Given the description of an element on the screen output the (x, y) to click on. 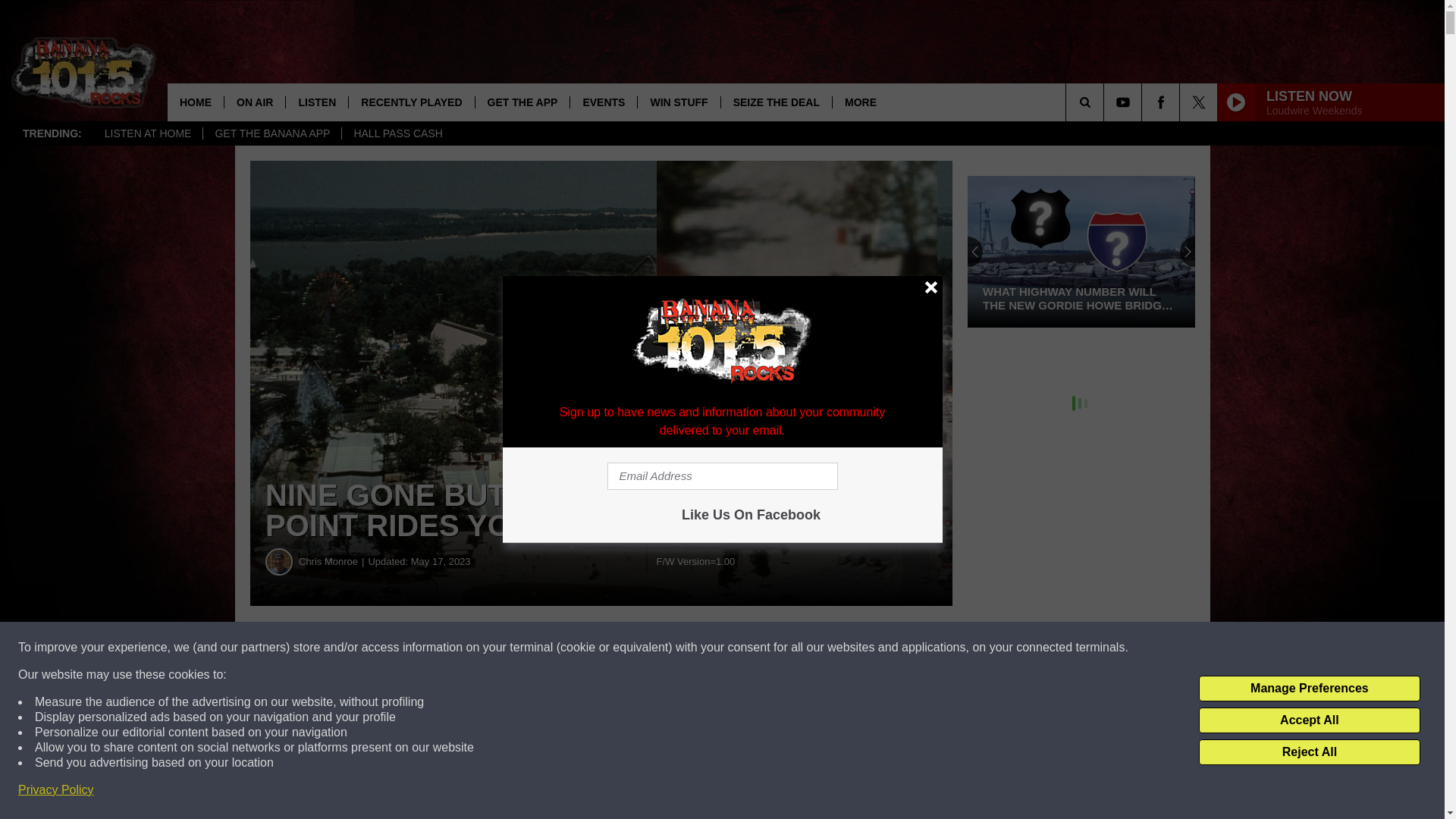
SEIZE THE DEAL (775, 102)
Share on Facebook (460, 647)
ON AIR (254, 102)
SEARCH (1106, 102)
EVENTS (603, 102)
LISTEN (316, 102)
Privacy Policy (55, 789)
TRENDING: (52, 133)
GET THE BANANA APP (271, 133)
GET THE APP (522, 102)
HOME (195, 102)
Reject All (1309, 751)
MORE (859, 102)
Manage Preferences (1309, 688)
Accept All (1309, 720)
